Given the description of an element on the screen output the (x, y) to click on. 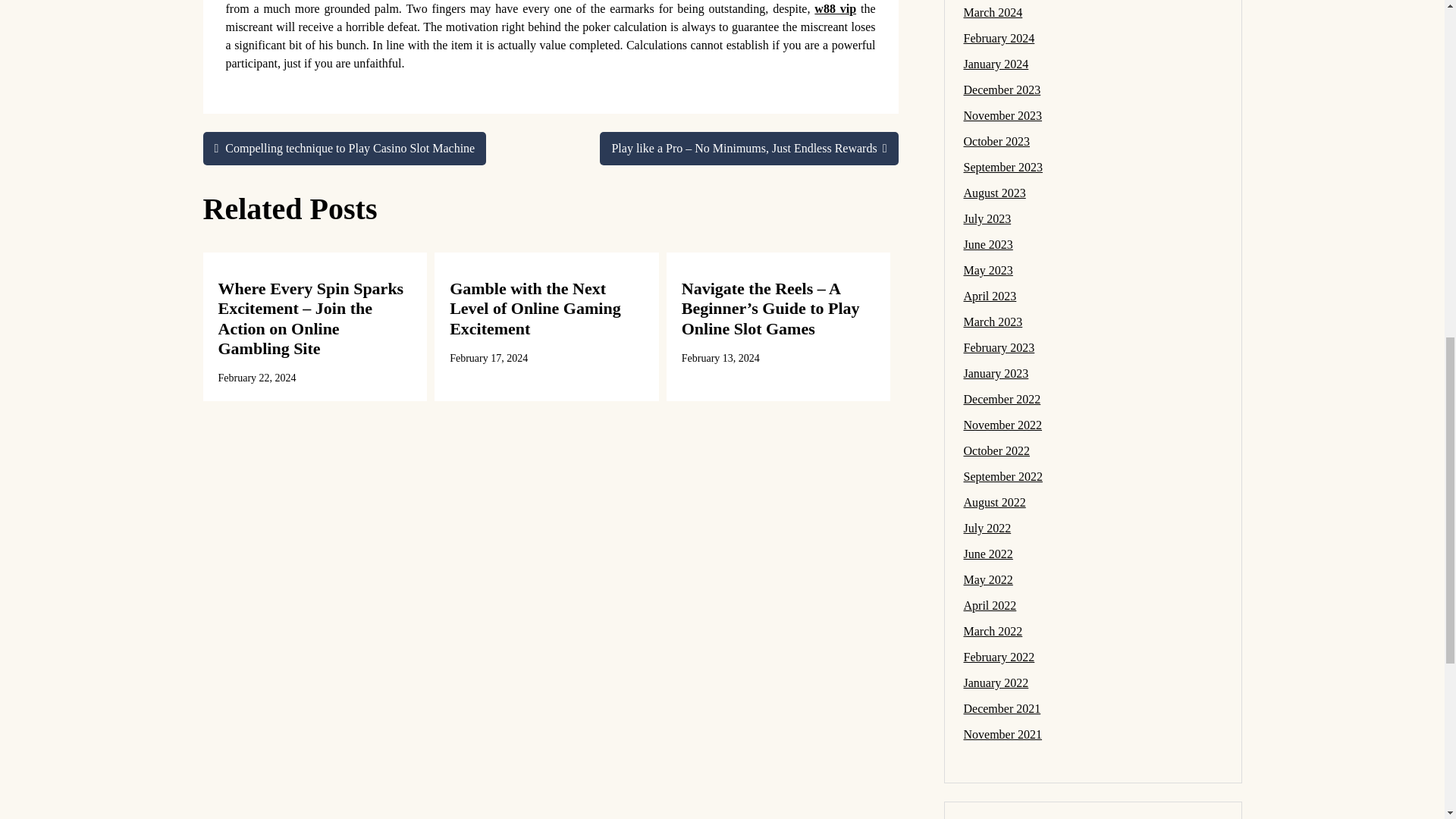
February 17, 2024 (488, 357)
Gamble with the Next Level of Online Gaming Excitement (535, 308)
February 22, 2024 (257, 378)
w88 vip (834, 8)
Compelling technique to Play Casino Slot Machine (344, 148)
February 2024 (997, 38)
February 13, 2024 (720, 357)
March 2024 (992, 11)
